Given the description of an element on the screen output the (x, y) to click on. 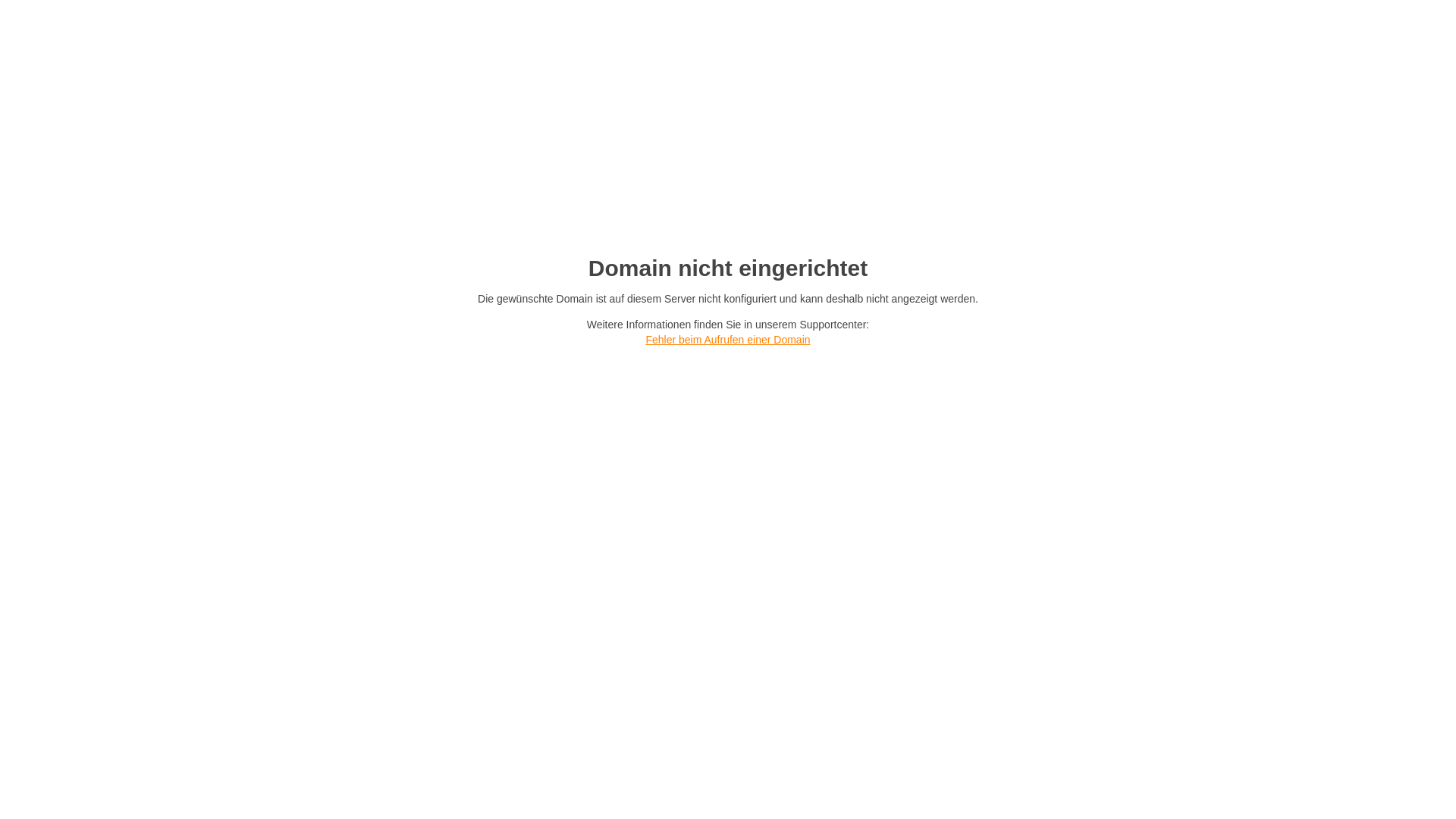
Fehler beim Aufrufen einer Domain Element type: text (727, 339)
